Given the description of an element on the screen output the (x, y) to click on. 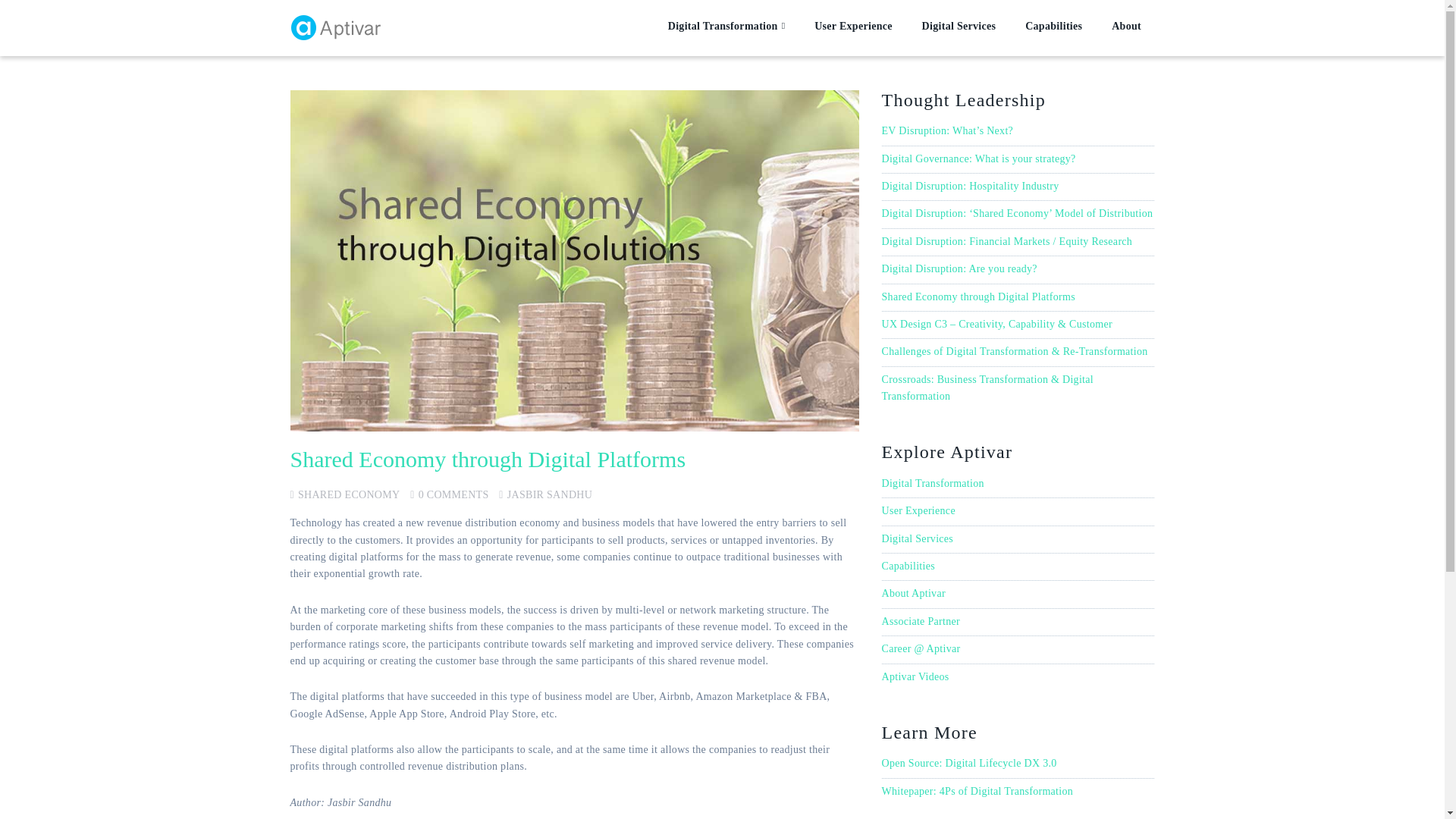
About (1126, 27)
Shared Economy through Digital Platforms (977, 296)
User Experience (852, 27)
Capabilities (1053, 27)
Digital Disruption: Are you ready? (958, 268)
Digital Services (958, 27)
Digital Transformation (932, 482)
Digital Transformation (727, 27)
Capabilities (907, 565)
About Aptivar (912, 593)
